Given the description of an element on the screen output the (x, y) to click on. 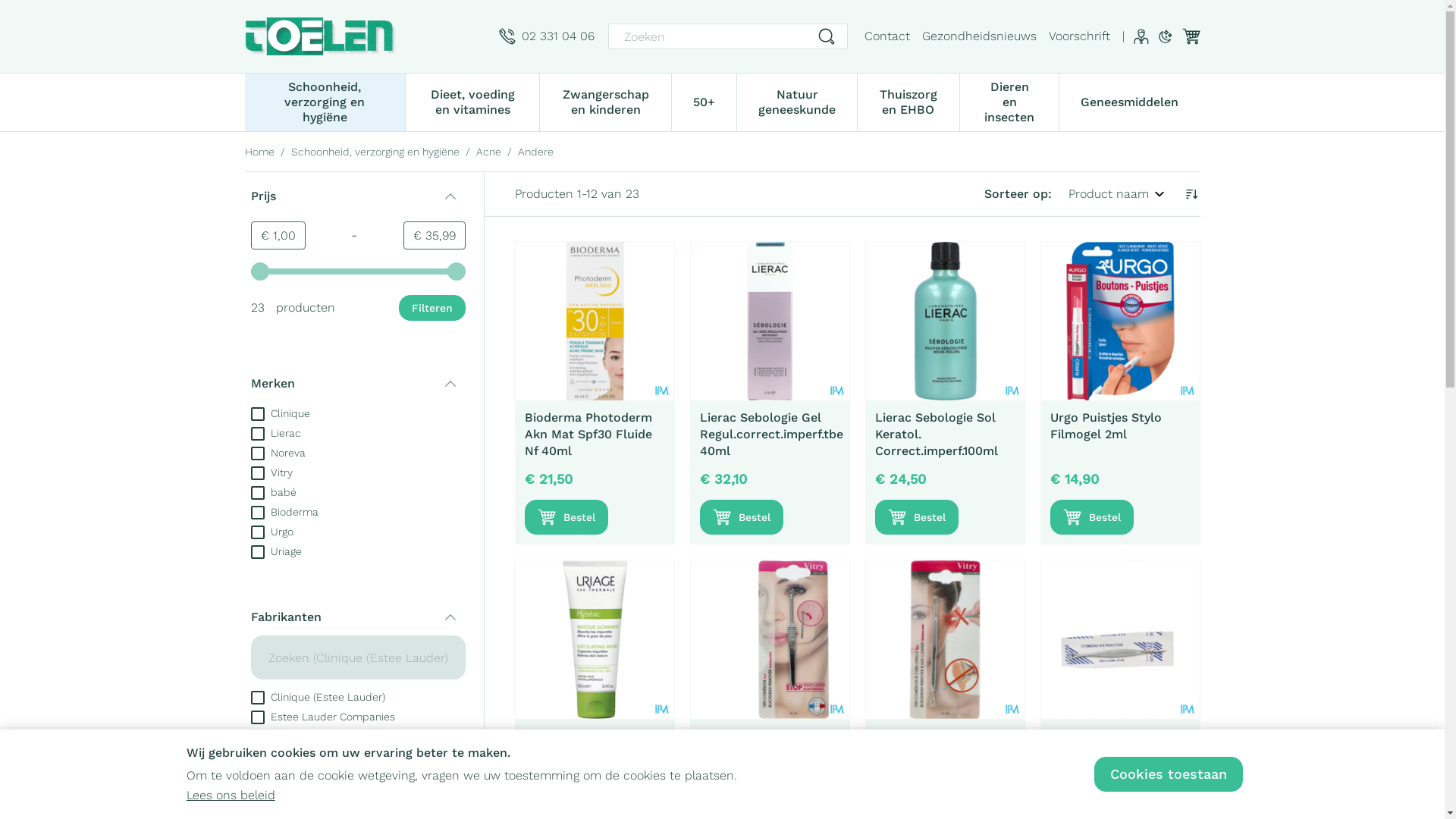
Dieet, voeding en vitamines Element type: text (472, 100)
Uriage Element type: text (275, 550)
Uriage Hyseac Scrubmasker 100ml Element type: text (582, 743)
Bioderma Photoderm Akn Mat Spf30 Fluide Nf 40ml Element type: hover (594, 320)
Bestel Element type: text (566, 516)
Bestel Element type: text (740, 516)
Noreva Element type: text (277, 452)
on Element type: text (256, 492)
Apotheek Toelen Element type: hover (319, 36)
Clinique Element type: text (279, 412)
Wolf Comedon Trekker 8cm Element type: text (1117, 743)
Lierac Element type: text (275, 432)
on Element type: text (256, 717)
Zwangerschap en kinderen Element type: text (605, 100)
Aflopende richting instellen Element type: hover (1190, 193)
on Element type: text (256, 532)
Bestel Element type: text (1090, 516)
Lees ons beleid Element type: text (230, 794)
Vitry Puistjestrekker Inox Dubbel 1072s Element type: text (935, 743)
on Element type: text (256, 473)
on Element type: text (256, 433)
on Element type: text (256, 512)
Gezondheidsnieuws Element type: text (979, 35)
Bioderma Element type: text (283, 511)
Voorschrift Element type: text (1078, 35)
Geneesmiddelen Element type: text (1129, 100)
Clinique (Estee Lauder) Element type: text (317, 696)
Vitry Classic Puistjestrekker Inox 1072 Element type: hover (769, 639)
Lierac Sebologie Gel Regul.correct.imperf.tbe 40ml Element type: text (770, 434)
Winkelwagen Element type: text (1190, 36)
Filteren Element type: text (431, 307)
Adephar Element type: text (281, 735)
Apotheek Toelen Element type: hover (365, 36)
on Element type: text (256, 551)
on Element type: text (256, 413)
Urgo Puistjes Stylo Filmogel 2ml Element type: text (1105, 425)
Cookies toestaan Element type: text (1168, 773)
on Element type: text (256, 453)
Uriage Hyseac Scrubmasker 100ml Element type: hover (594, 639)
Bestel Element type: text (916, 516)
on Element type: text (256, 736)
Vitry Classic Puistjestrekker Inox 1072 Element type: text (758, 752)
Ales Group Element type: text (287, 755)
Zoeken Element type: text (826, 36)
Klant menu Element type: text (1140, 35)
on Element type: text (256, 796)
Natuur geneeskunde Element type: text (796, 100)
02 331 04 06 Element type: text (546, 36)
Dieren en insecten Element type: text (1009, 100)
on Element type: text (256, 776)
Cosmxpert Element type: text (286, 775)
Estee Lauder Companies Element type: text (322, 716)
on Element type: text (256, 756)
Wolf Comedon Trekker 8cm Element type: hover (1119, 639)
Bioderma Photoderm Akn Mat Spf30 Fluide Nf 40ml Element type: text (588, 434)
Urgo Element type: text (271, 531)
Urgo Puistjes Stylo Filmogel 2ml Element type: hover (1119, 320)
Contact Element type: text (887, 35)
Vitry Element type: text (270, 471)
Acne Element type: text (488, 151)
50+ Element type: text (703, 100)
Lierac Sebologie Sol Keratol. Correct.imperf.100ml Element type: hover (945, 320)
Home Element type: text (258, 151)
Lierac Sebologie Sol Keratol. Correct.imperf.100ml Element type: text (936, 434)
Thuiszorg en EHBO Element type: text (908, 100)
Lierac Sebologie Gel Regul.correct.imperf.tbe 40ml Element type: hover (769, 320)
Donkere modus Element type: text (1164, 35)
Laboratoire Native Element type: text (305, 794)
Vitry Puistjestrekker Inox Dubbel 1072s Element type: hover (945, 639)
on Element type: text (256, 697)
